Given the description of an element on the screen output the (x, y) to click on. 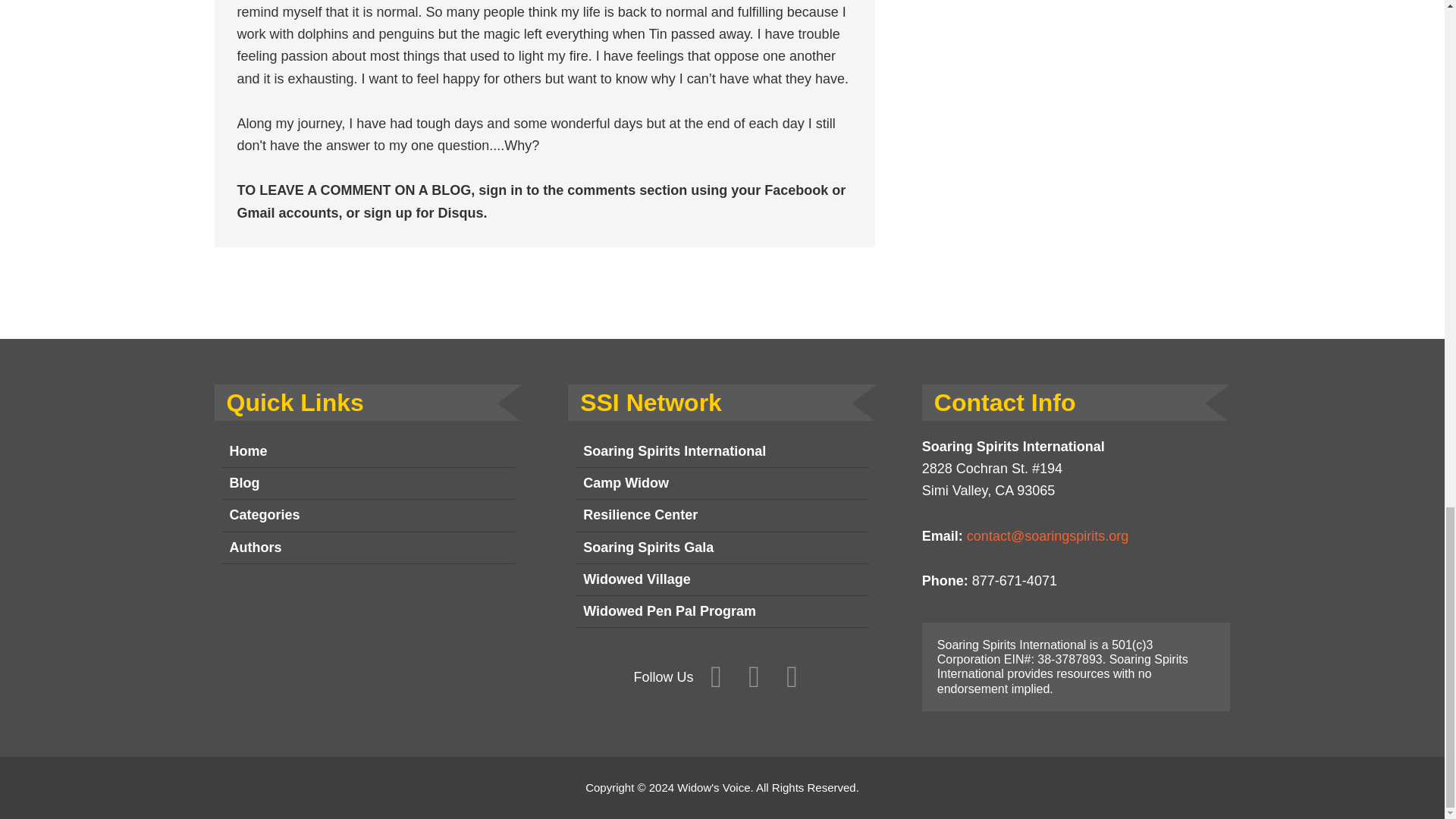
Camp Widow (722, 483)
Resilience Center (722, 515)
Home (368, 451)
Categories (368, 515)
Soaring Spirits Gala (722, 548)
Soaring Spirits International (722, 451)
YouTube (791, 677)
Widowed Pen Pal Program (722, 612)
Blog (368, 483)
Facebook (716, 677)
